Given the description of an element on the screen output the (x, y) to click on. 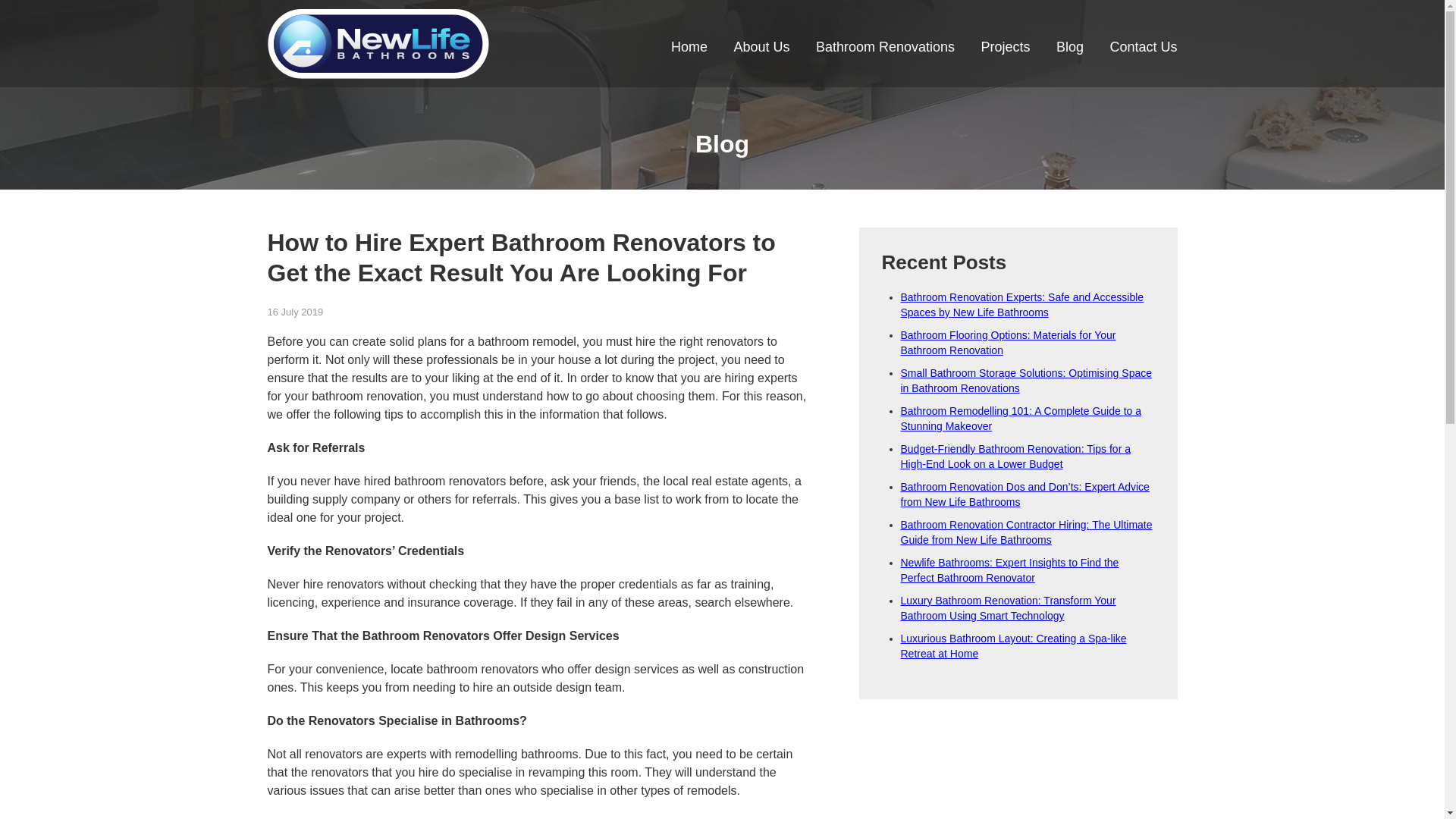
Bathroom Renovations Element type: text (884, 49)
Blog Element type: text (1069, 49)
About Us Element type: text (761, 49)
Contact Us Element type: text (1142, 49)
Home Element type: text (689, 49)
Projects Element type: text (1004, 49)
